Given the description of an element on the screen output the (x, y) to click on. 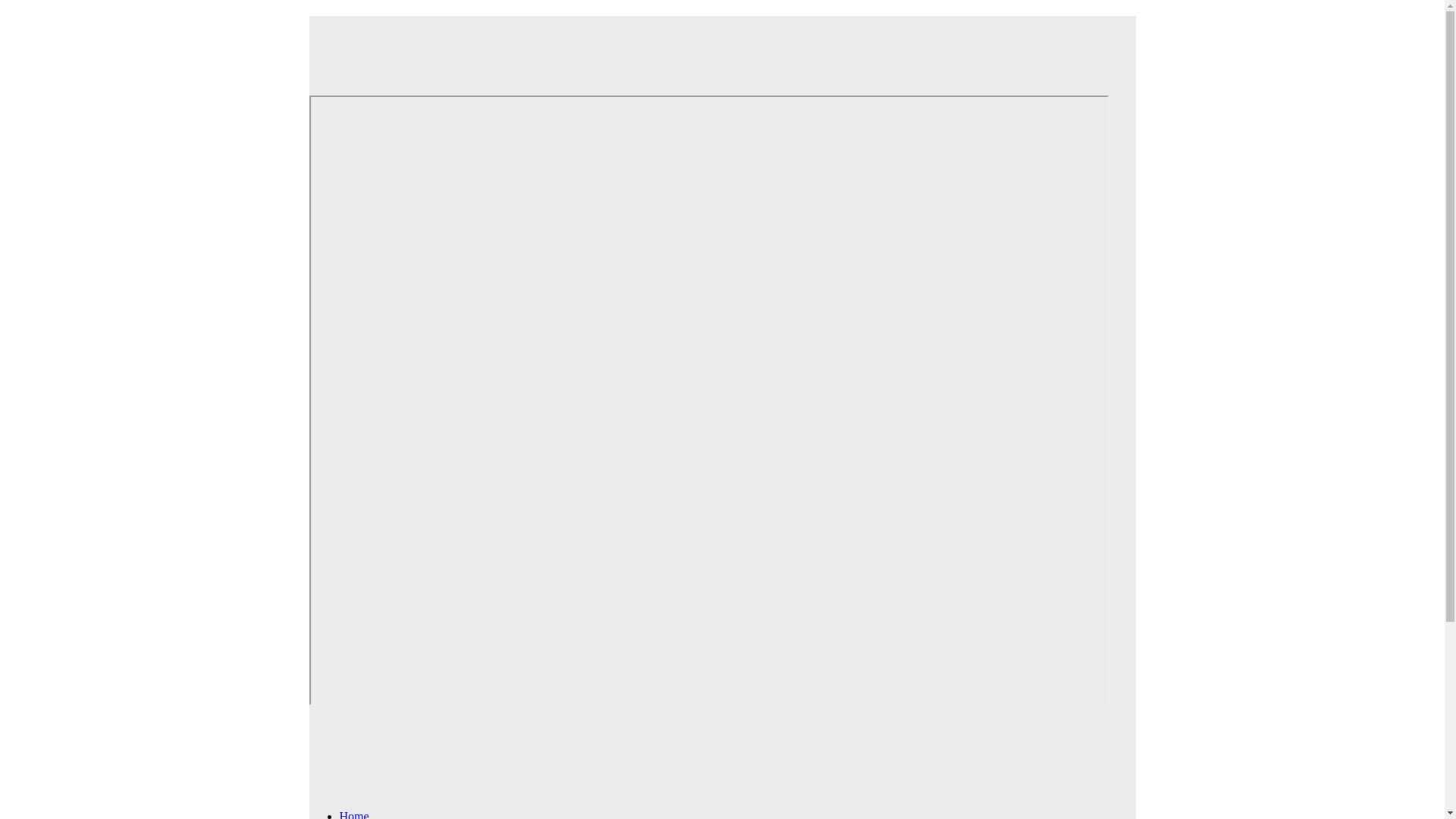
Web Hosting from Just Host Element type: text (707, 44)
